Given the description of an element on the screen output the (x, y) to click on. 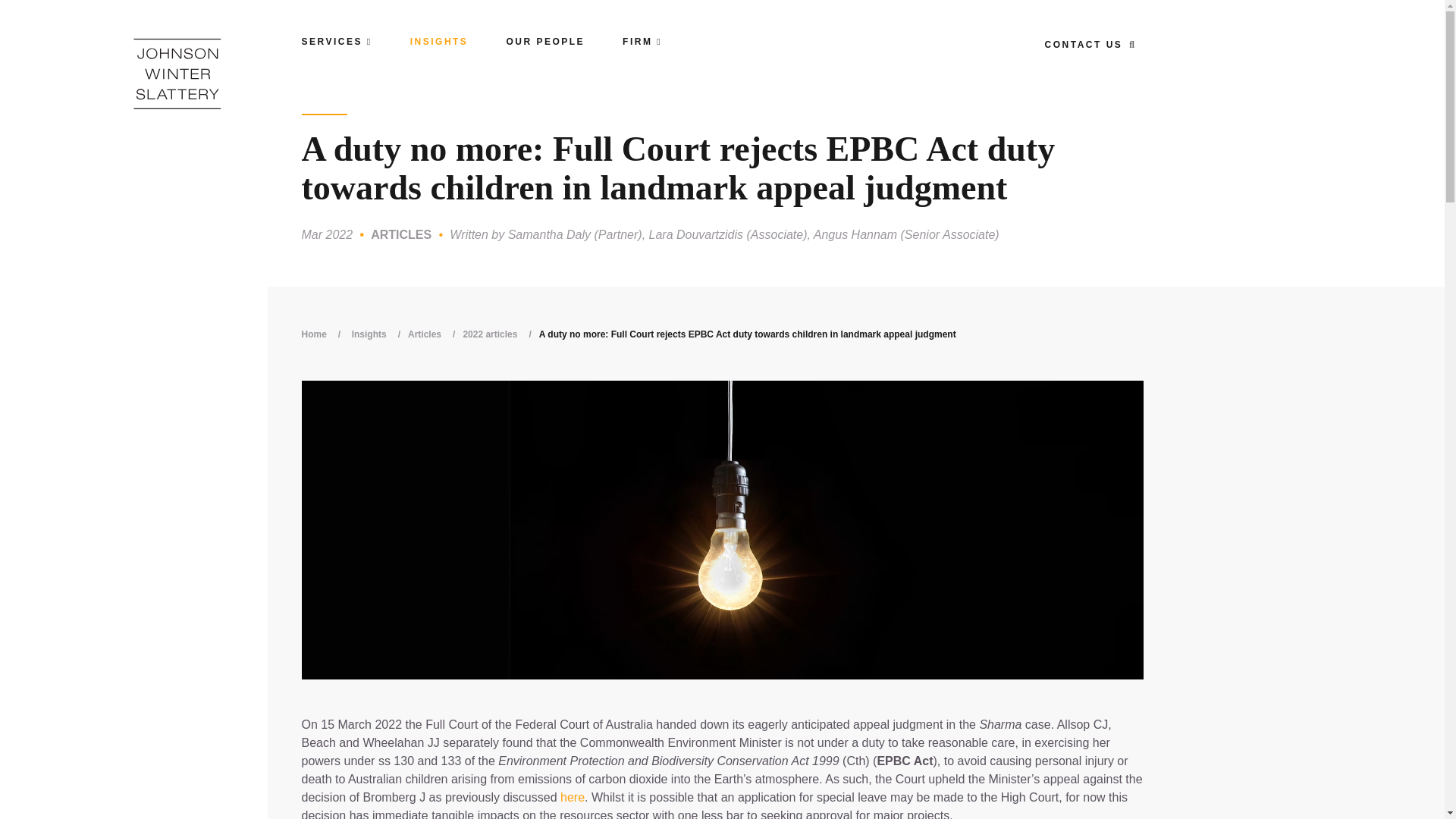
Insights (379, 334)
2022 articles (500, 334)
Johnson Winter Slattery (176, 73)
SERVICES (336, 41)
Articles (435, 334)
